Given the description of an element on the screen output the (x, y) to click on. 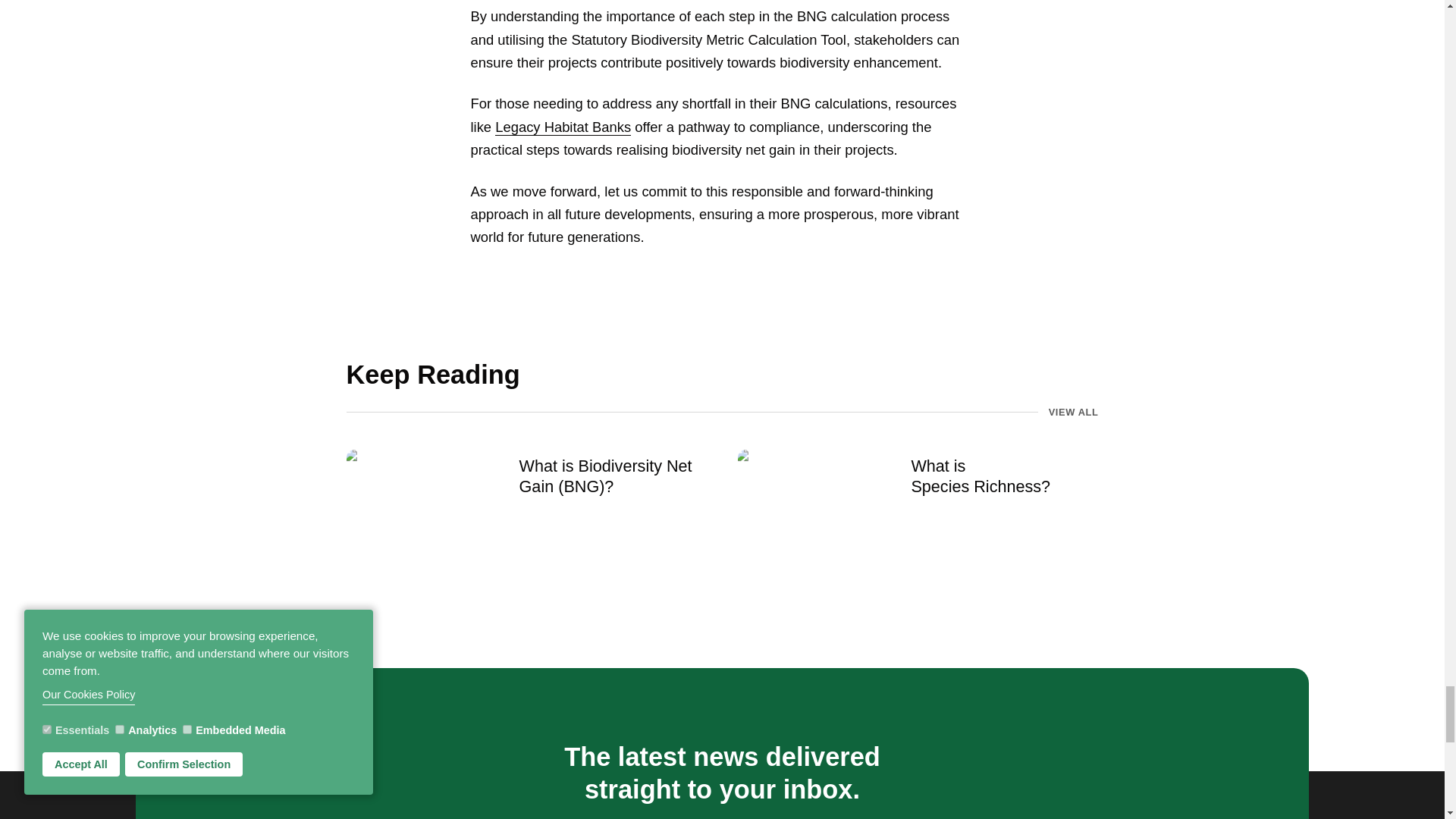
Legacy Habitat Banks (562, 126)
What is Species Richness? (1004, 475)
VIEW ALL (1073, 411)
